Given the description of an element on the screen output the (x, y) to click on. 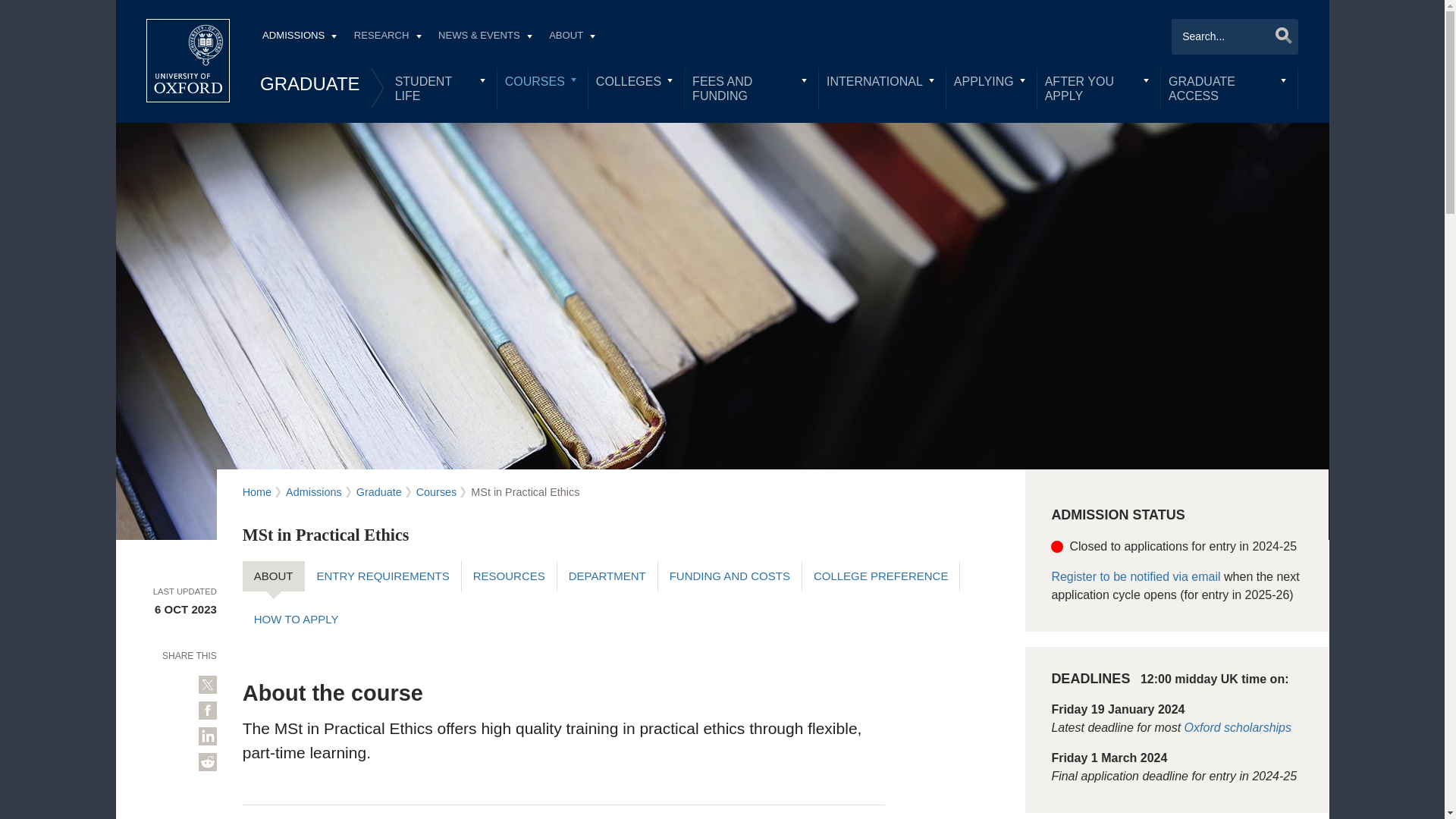
Home (188, 60)
Search (1279, 35)
STUDENT LIFE (441, 88)
Search (1279, 35)
GRADUATE (309, 83)
Enter the terms you wish to search for. (1235, 36)
ADMISSIONS (298, 37)
RESEARCH (387, 37)
Home (188, 60)
